Given the description of an element on the screen output the (x, y) to click on. 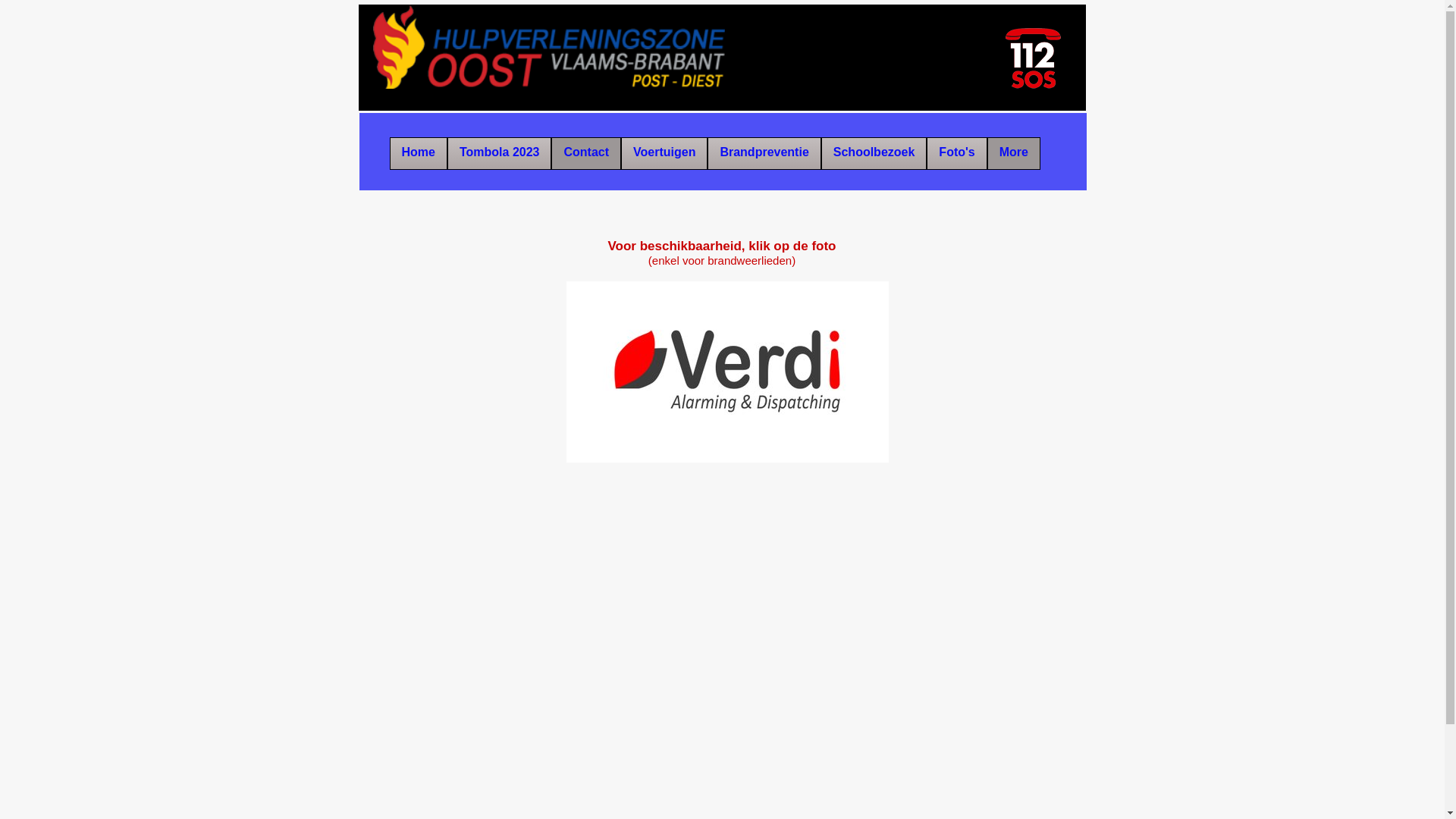
Tombola 2023 Element type: text (499, 153)
Foto's Element type: text (956, 153)
Contact Element type: text (586, 153)
Home Element type: text (418, 153)
Brandpreventie Element type: text (763, 153)
More Element type: text (1013, 153)
Voertuigen Element type: text (664, 153)
Schoolbezoek Element type: text (874, 153)
